Given the description of an element on the screen output the (x, y) to click on. 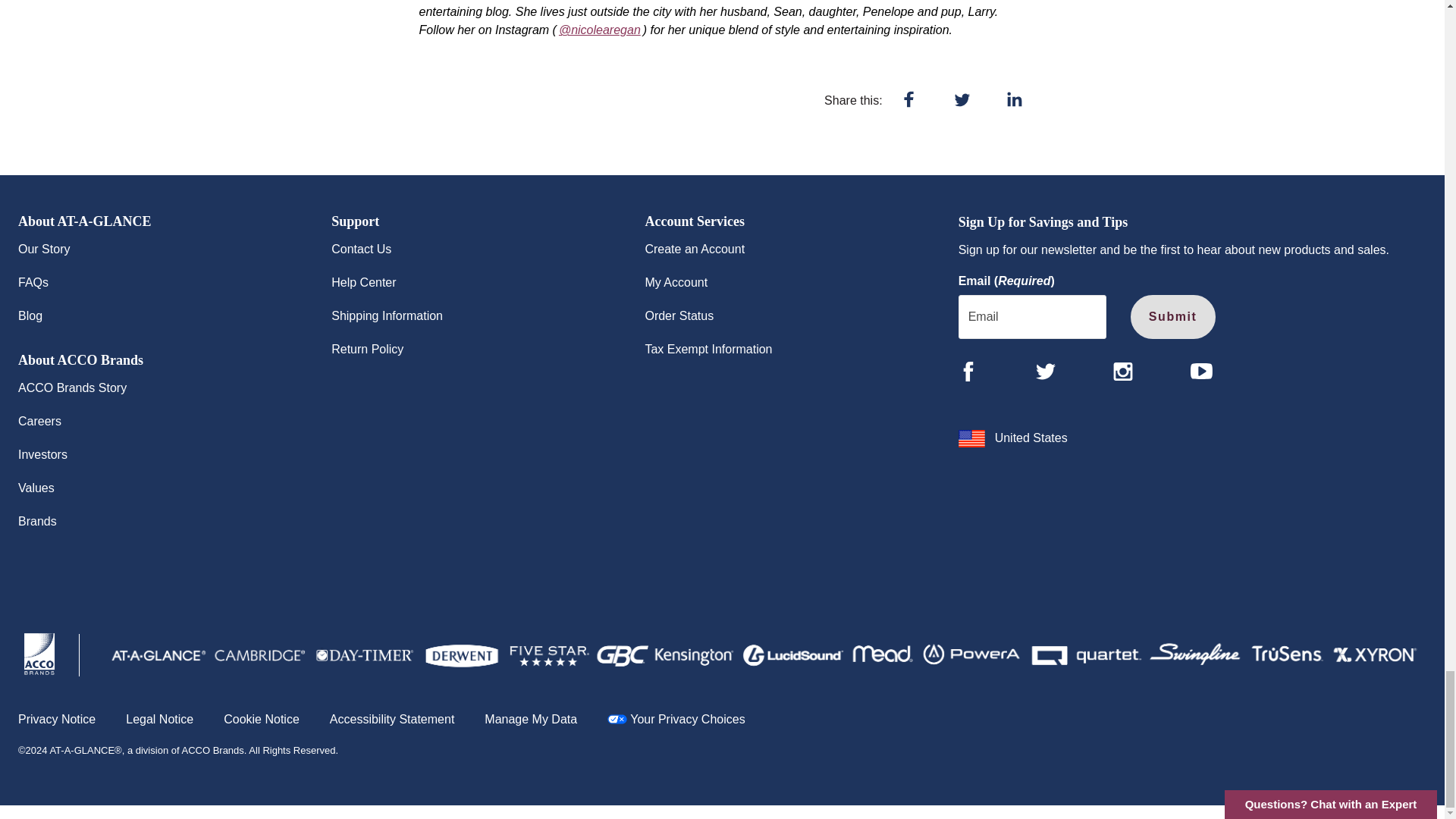
Follow us on Instagram (1122, 371)
Like us on Facebook (968, 371)
Connect with us on Twitter (1045, 371)
Find us on YouTube (1201, 371)
